Given the description of an element on the screen output the (x, y) to click on. 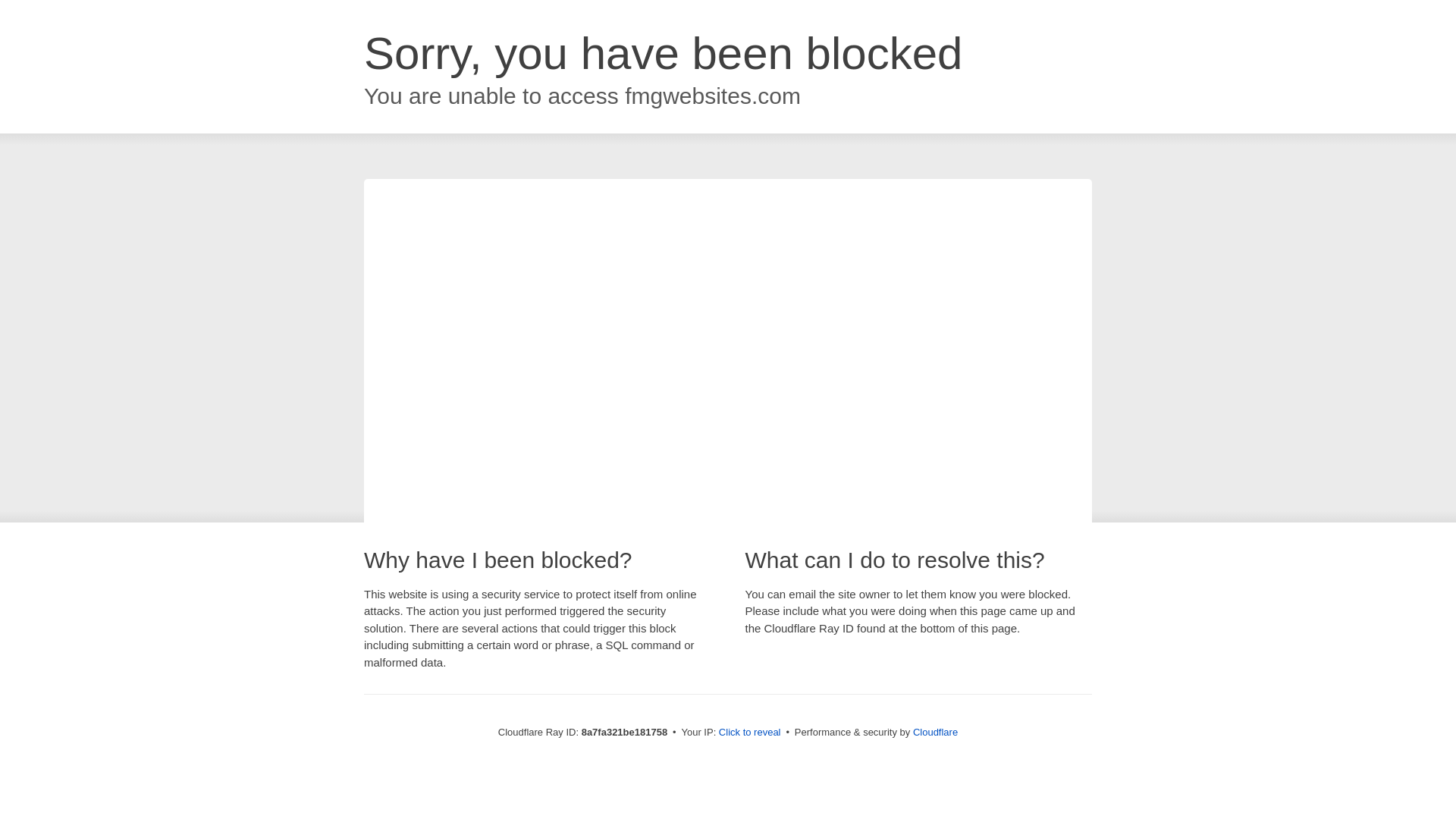
Click to reveal (749, 732)
Cloudflare (935, 731)
